Given the description of an element on the screen output the (x, y) to click on. 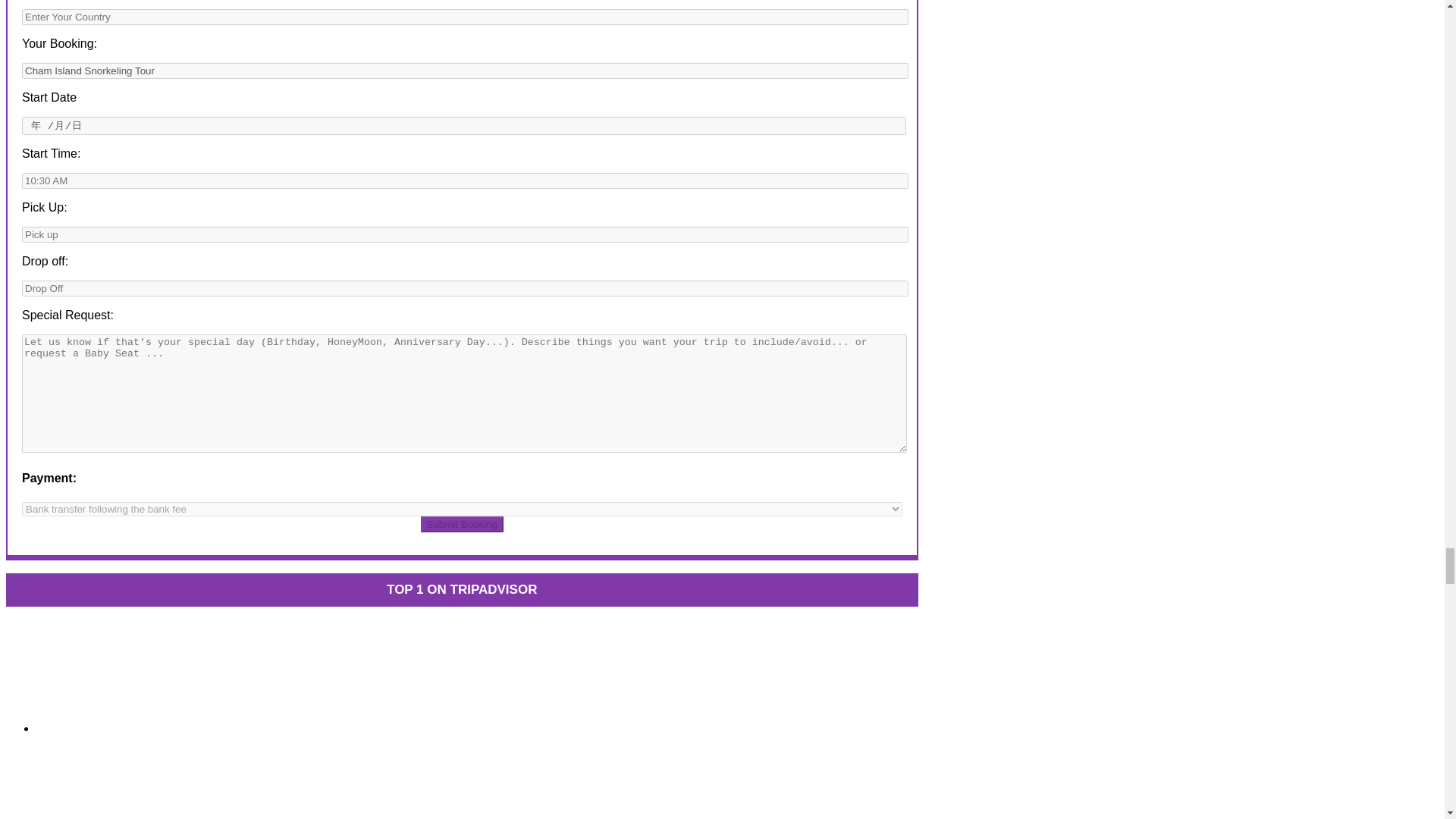
Submit Booking (461, 524)
Cham Island Snorkeling Tour (464, 70)
